Given the description of an element on the screen output the (x, y) to click on. 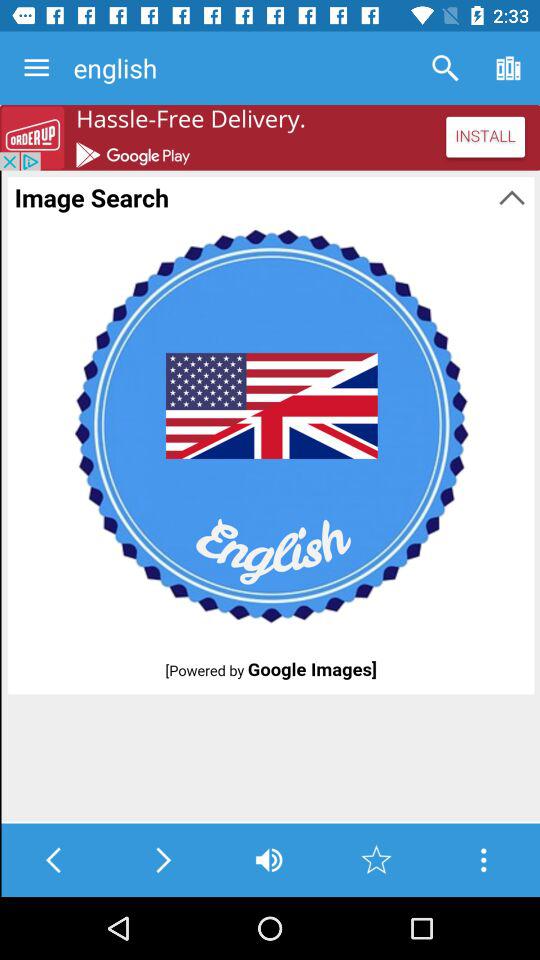
go the options (483, 859)
